Given the description of an element on the screen output the (x, y) to click on. 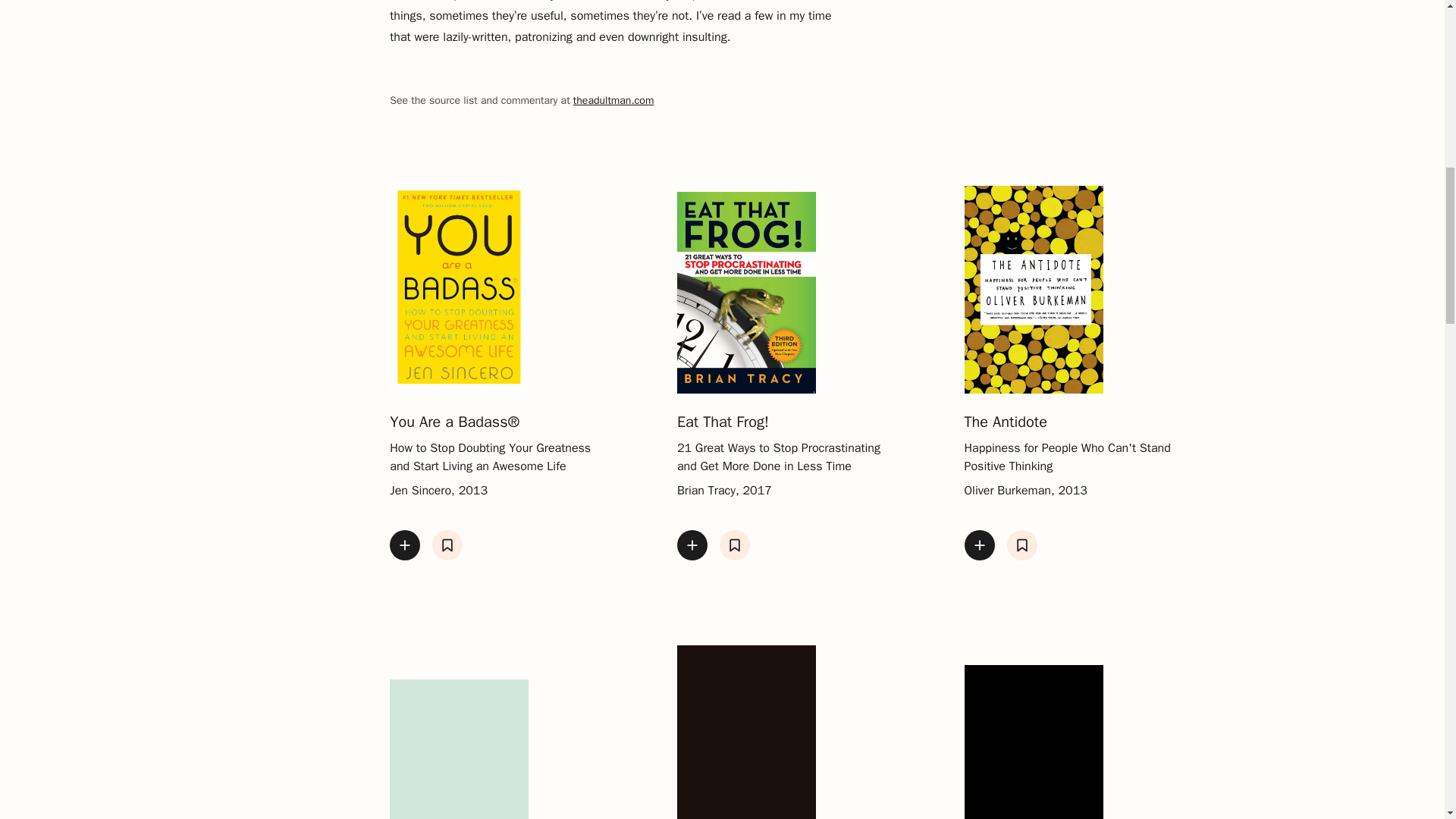
theadultman.com (613, 100)
